Given the description of an element on the screen output the (x, y) to click on. 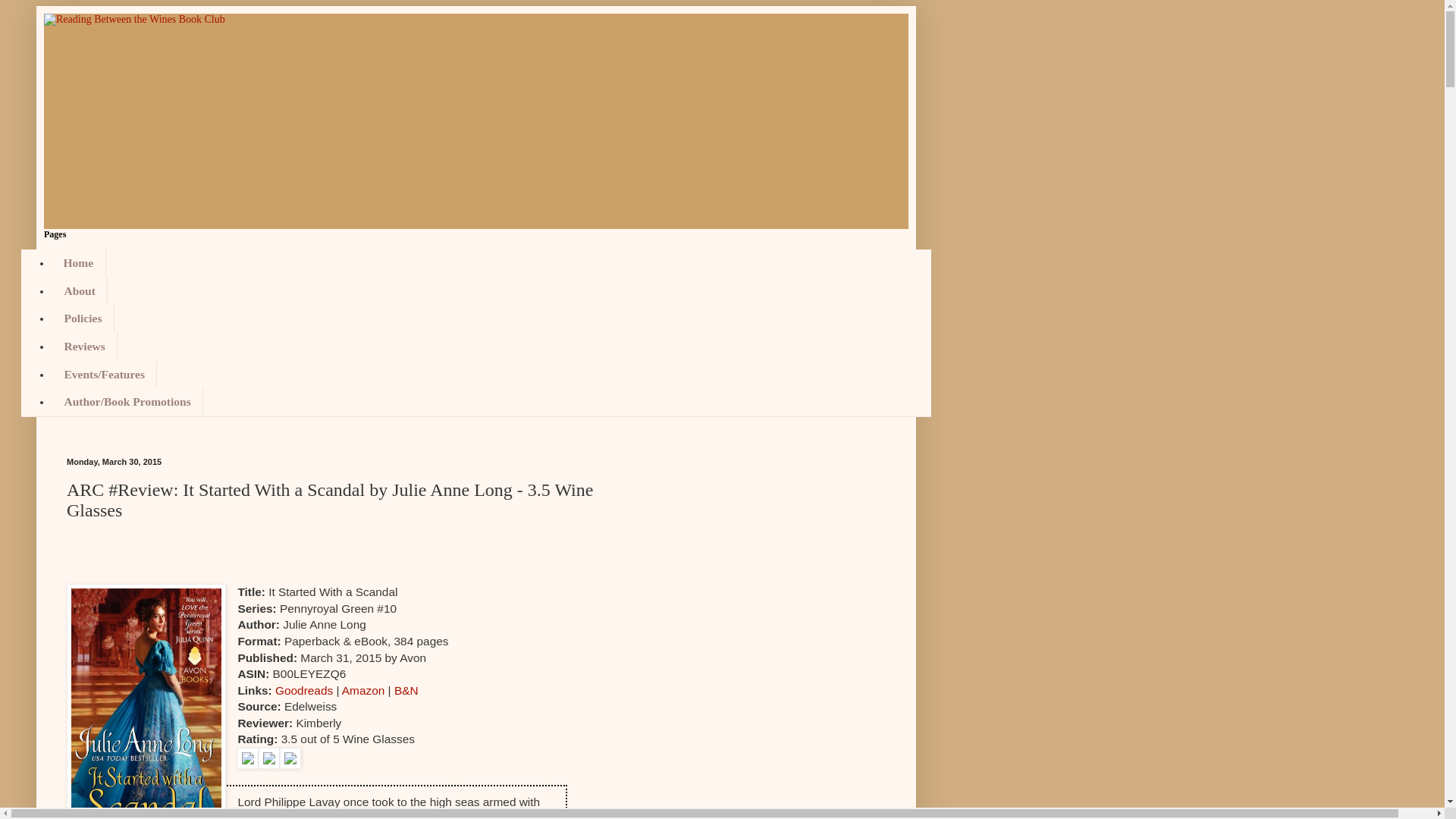
Amazon (363, 689)
Reviews (83, 346)
Home (78, 263)
Goodreads (304, 689)
About (78, 291)
Policies (82, 318)
